Given the description of an element on the screen output the (x, y) to click on. 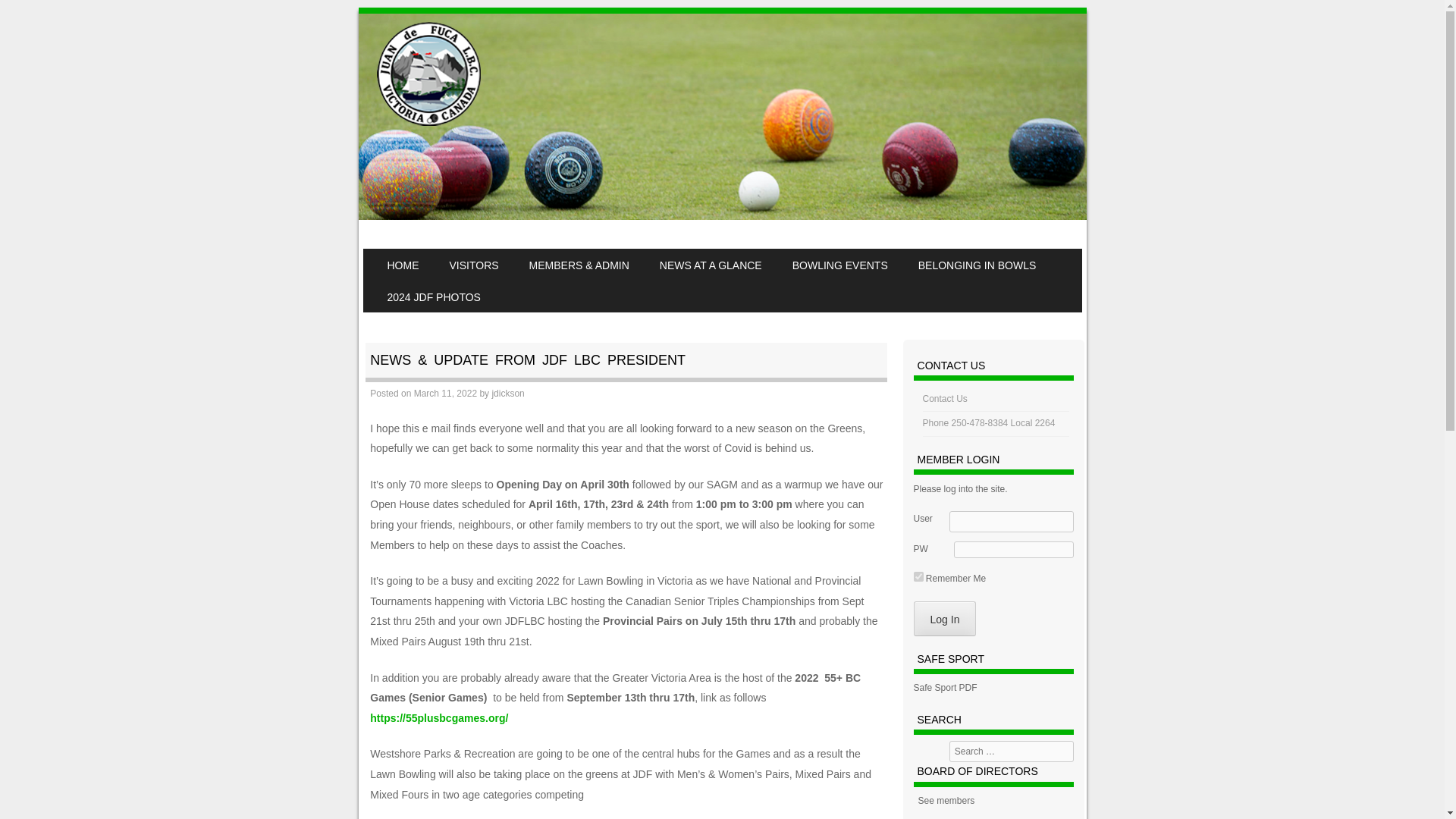
NEWS AT A GLANCE (711, 264)
VISITORS (473, 264)
HOME (402, 264)
forever (918, 576)
4:01 pm (445, 393)
Skip to content (410, 258)
Log In (945, 618)
SKIP TO CONTENT (410, 258)
View all posts by jdickson (508, 393)
